Given the description of an element on the screen output the (x, y) to click on. 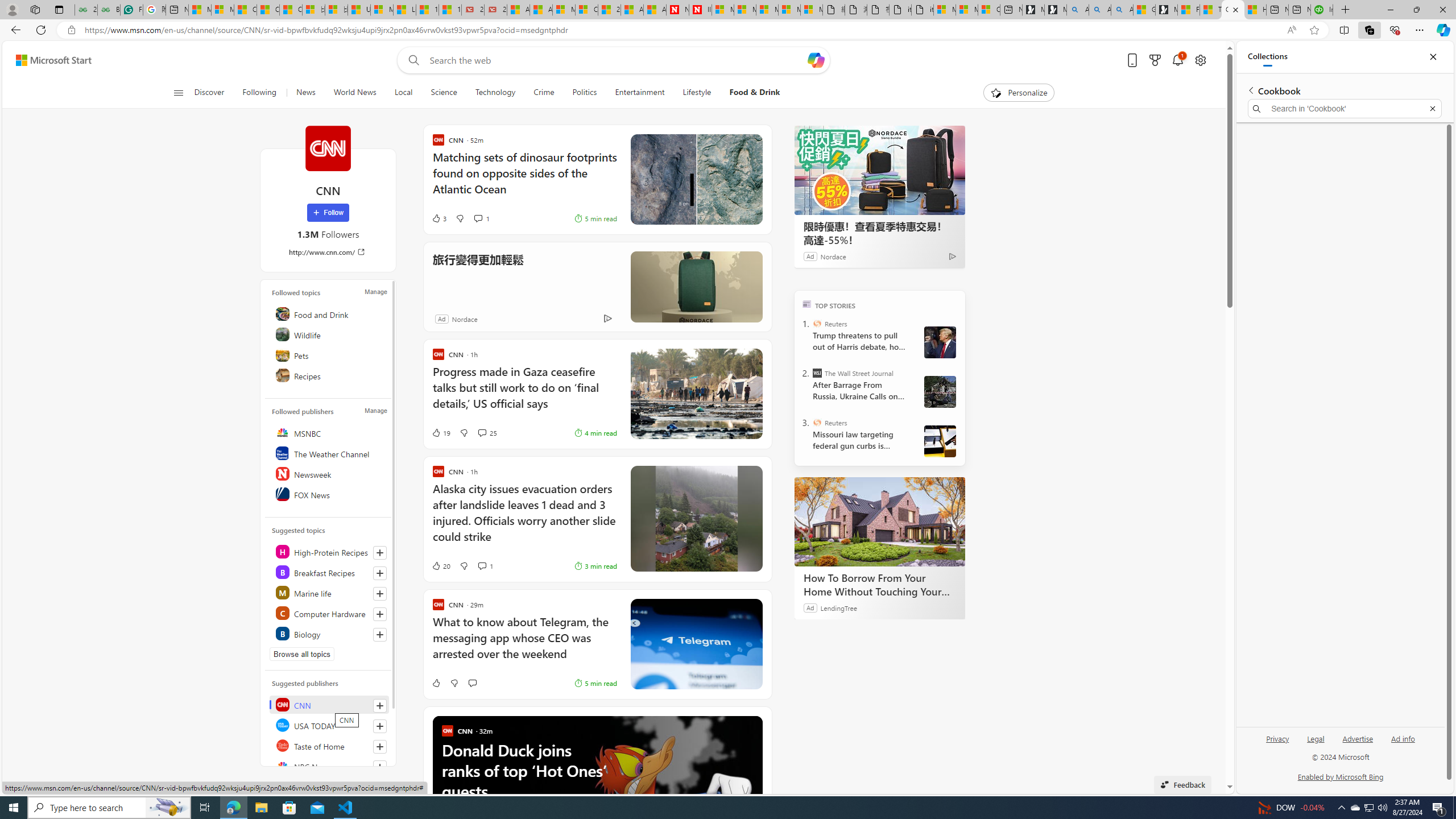
View comments 1 Comment (485, 565)
Technology (495, 92)
View comments 25 Comment (487, 432)
3 Like (438, 218)
Lifestyle - MSN (404, 9)
The Wall Street Journal (816, 372)
CNN (328, 704)
